Given the description of an element on the screen output the (x, y) to click on. 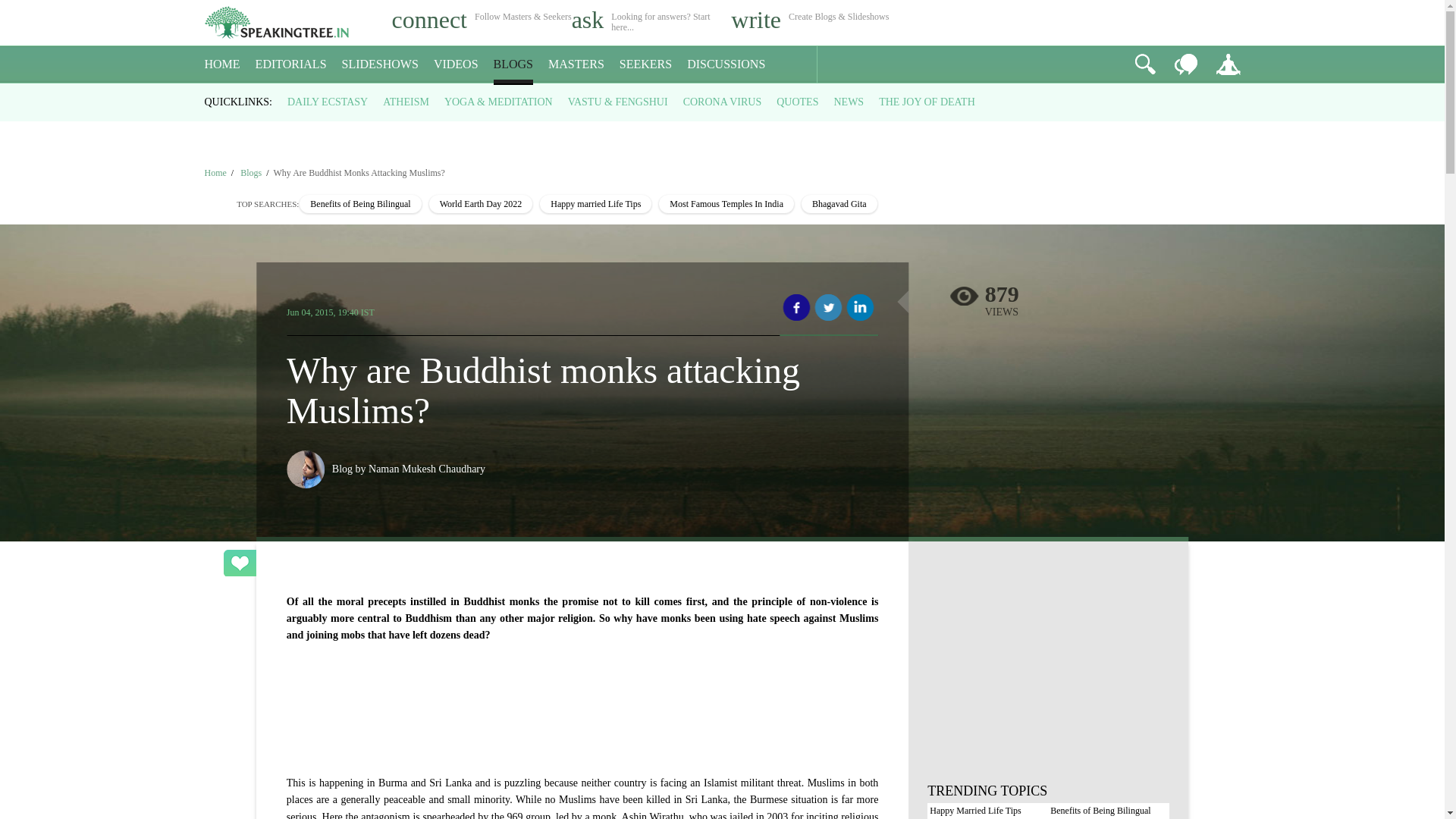
Share on LinkedIn (860, 307)
HOME (222, 64)
DAILY ECSTASY (327, 101)
Speaking Tree (216, 172)
3rd party ad content (582, 699)
THE JOY OF DEATH (927, 101)
QUOTES (797, 101)
Share on Facebook (796, 307)
VIDEOS (456, 64)
EDITORIALS (291, 64)
Share on Twitter (828, 307)
3rd party ad content (1047, 674)
DISCUSSIONS (726, 64)
NEWS (847, 101)
ATHEISM (405, 101)
